Given the description of an element on the screen output the (x, y) to click on. 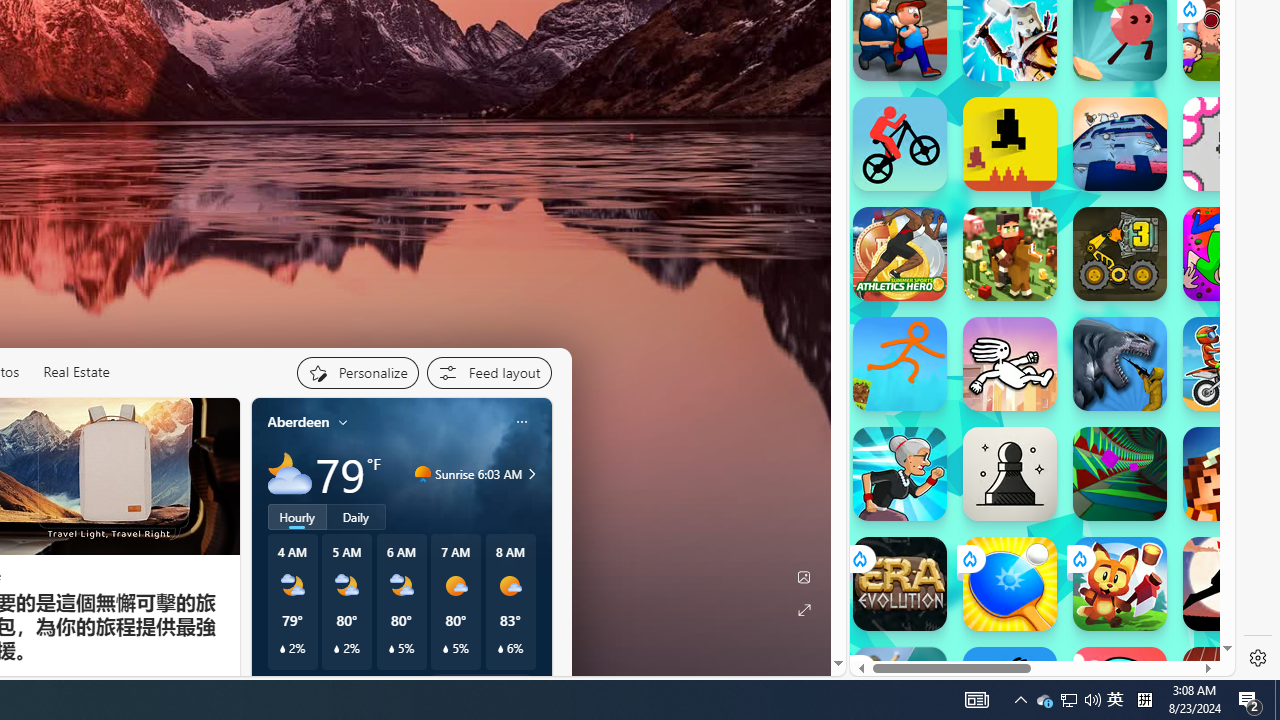
Athletics Hero Athletics Hero (899, 253)
Combat Reloaded Combat Reloaded poki.com (1092, 278)
Into the Pit (1229, 143)
The Speed Ninja (1229, 583)
Tunnel Rush Tunnel Rush (1119, 473)
Crazy Cars (1217, 324)
Era: Evolution Era: Evolution (899, 583)
My location (343, 421)
Personalize your feed" (356, 372)
Into the Pit Into the Pit (1229, 143)
Feed settings (488, 372)
Apple Knight: Farmers Market (1009, 253)
